Given the description of an element on the screen output the (x, y) to click on. 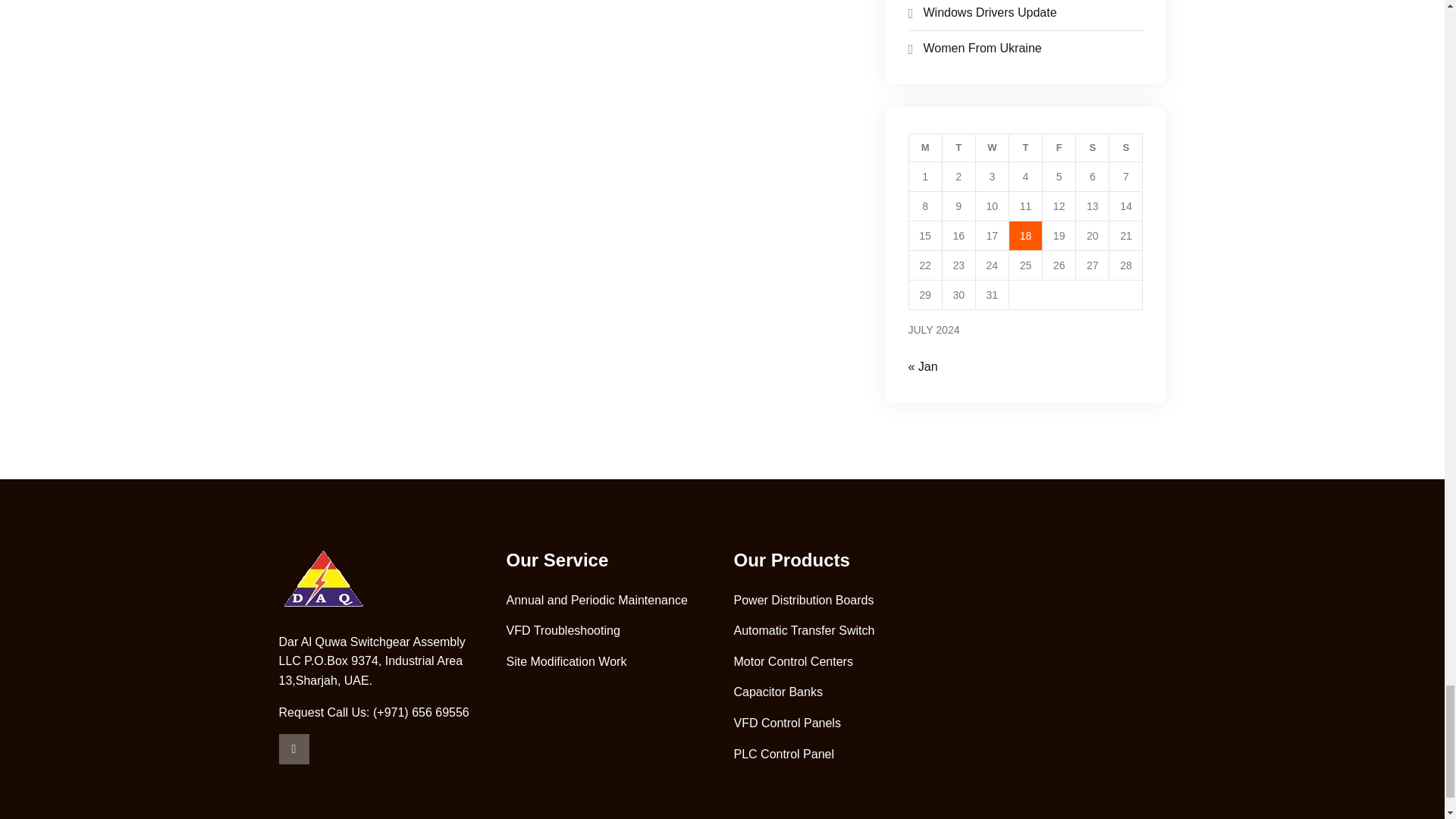
Thursday (1025, 148)
Saturday (1092, 148)
Monday (925, 148)
Friday (1058, 148)
Tuesday (958, 148)
Wednesday (992, 148)
Facebook (293, 748)
Sunday (1125, 148)
